Given the description of an element on the screen output the (x, y) to click on. 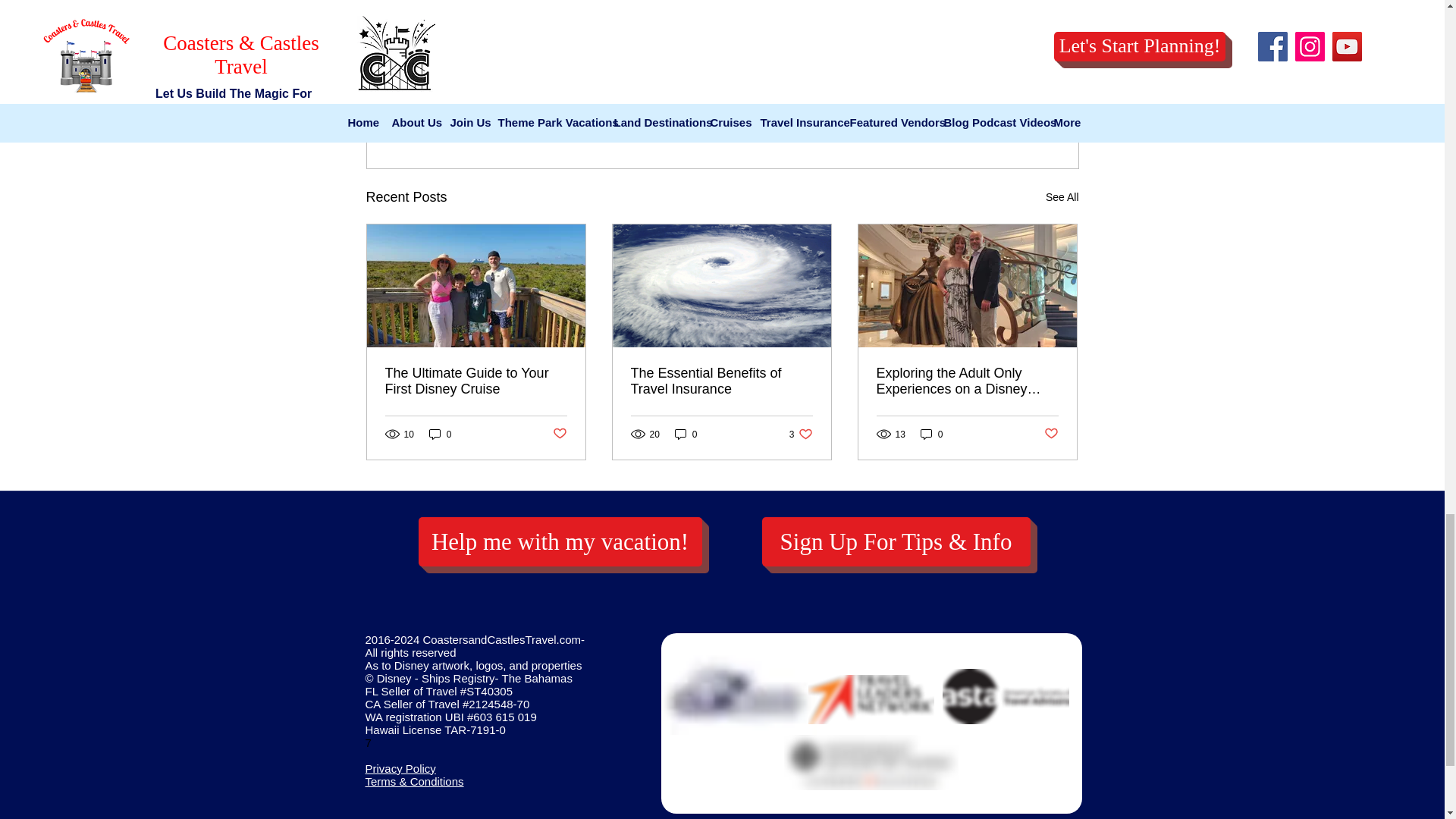
Travel Leaders Network (871, 698)
Cruise Lines International Association (738, 690)
American Society of Travel Advisors (1005, 696)
